Given the description of an element on the screen output the (x, y) to click on. 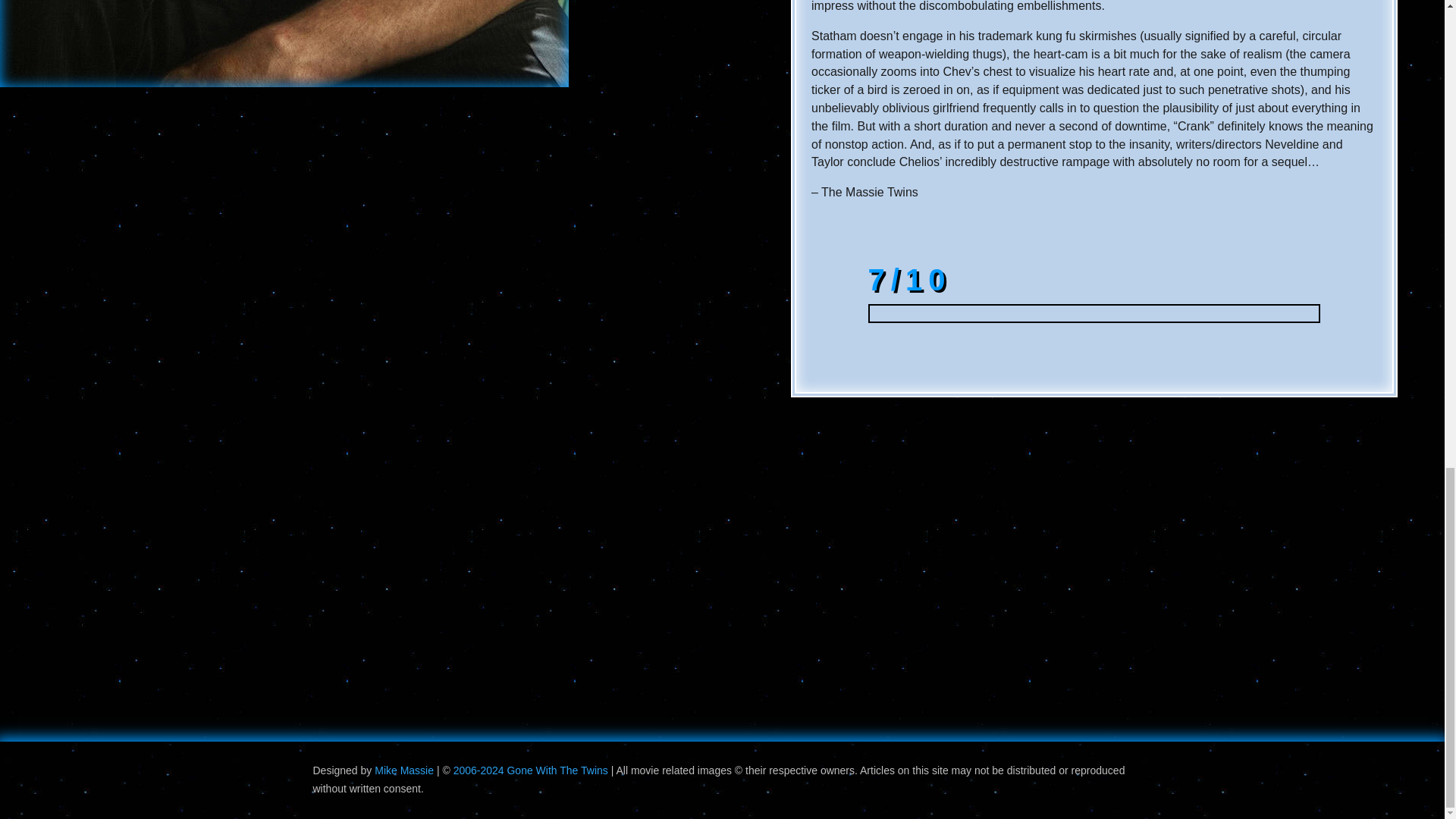
The Art of Mike Massie (403, 770)
"I'm hovering here!" (284, 43)
